Given the description of an element on the screen output the (x, y) to click on. 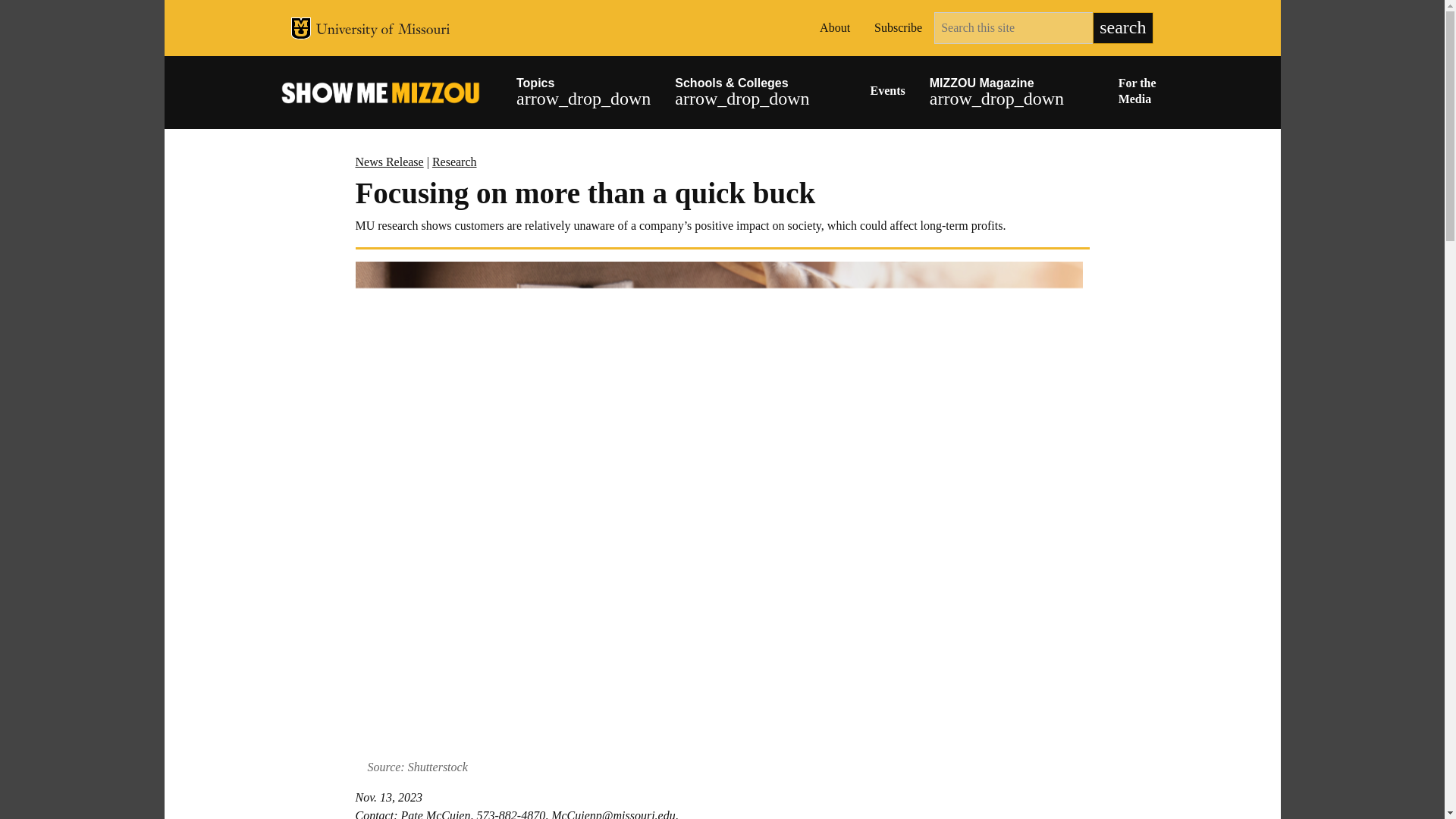
MU Logo (301, 27)
Events (888, 92)
search (1123, 28)
University of Missouri (382, 30)
About (834, 28)
Subscribe (897, 28)
For the Media (1141, 92)
